Given the description of an element on the screen output the (x, y) to click on. 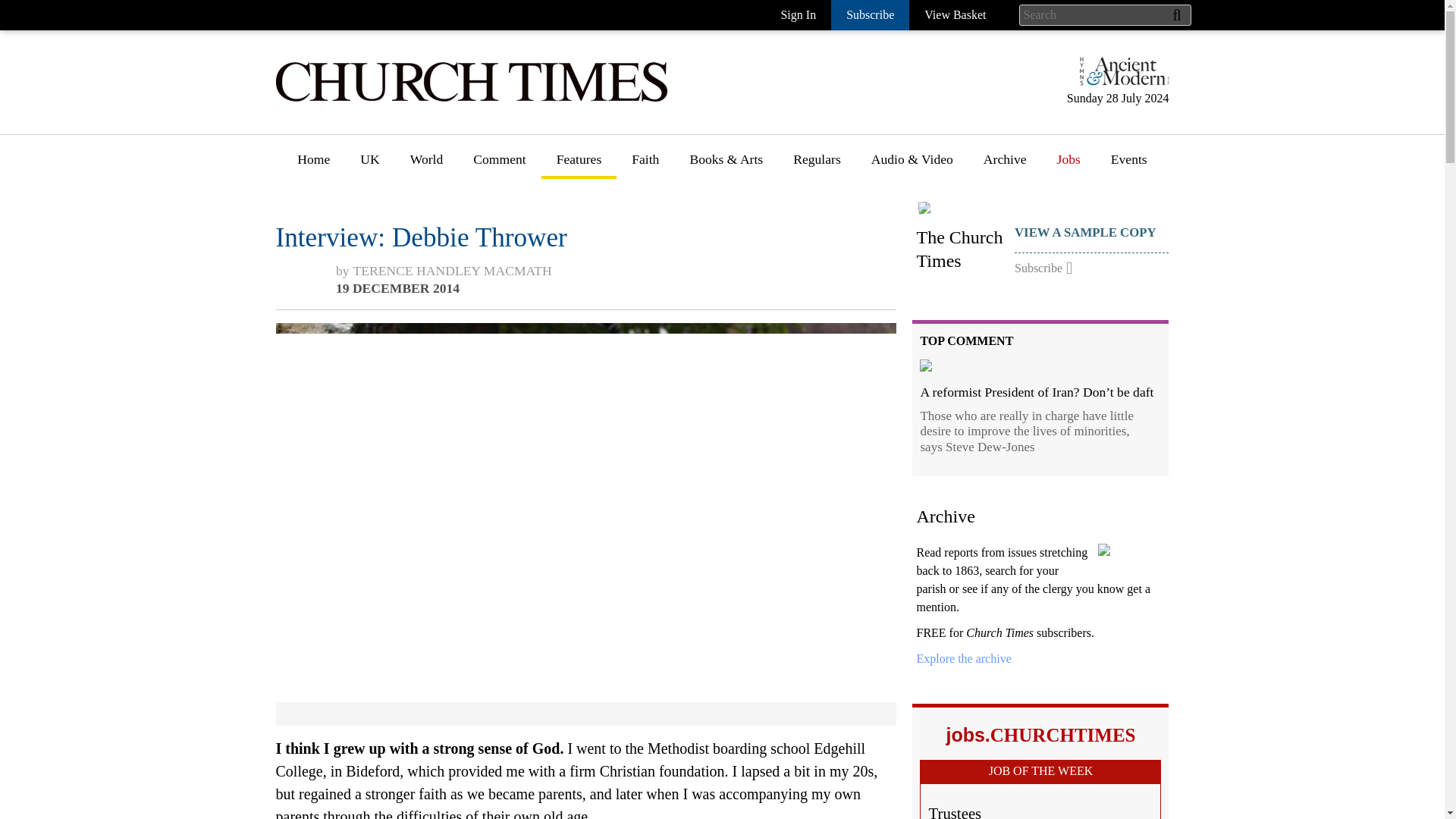
Opinion (495, 204)
Faith features (668, 232)
Comment (499, 164)
Archive (962, 658)
Music (705, 316)
Cartoons (817, 232)
Visual arts (718, 287)
Caption competition (848, 260)
Leader comment (518, 232)
Columnists (504, 260)
Book club (717, 260)
Performing arts (731, 343)
Faith (644, 164)
TV (698, 399)
Week ahead (721, 456)
